Given the description of an element on the screen output the (x, y) to click on. 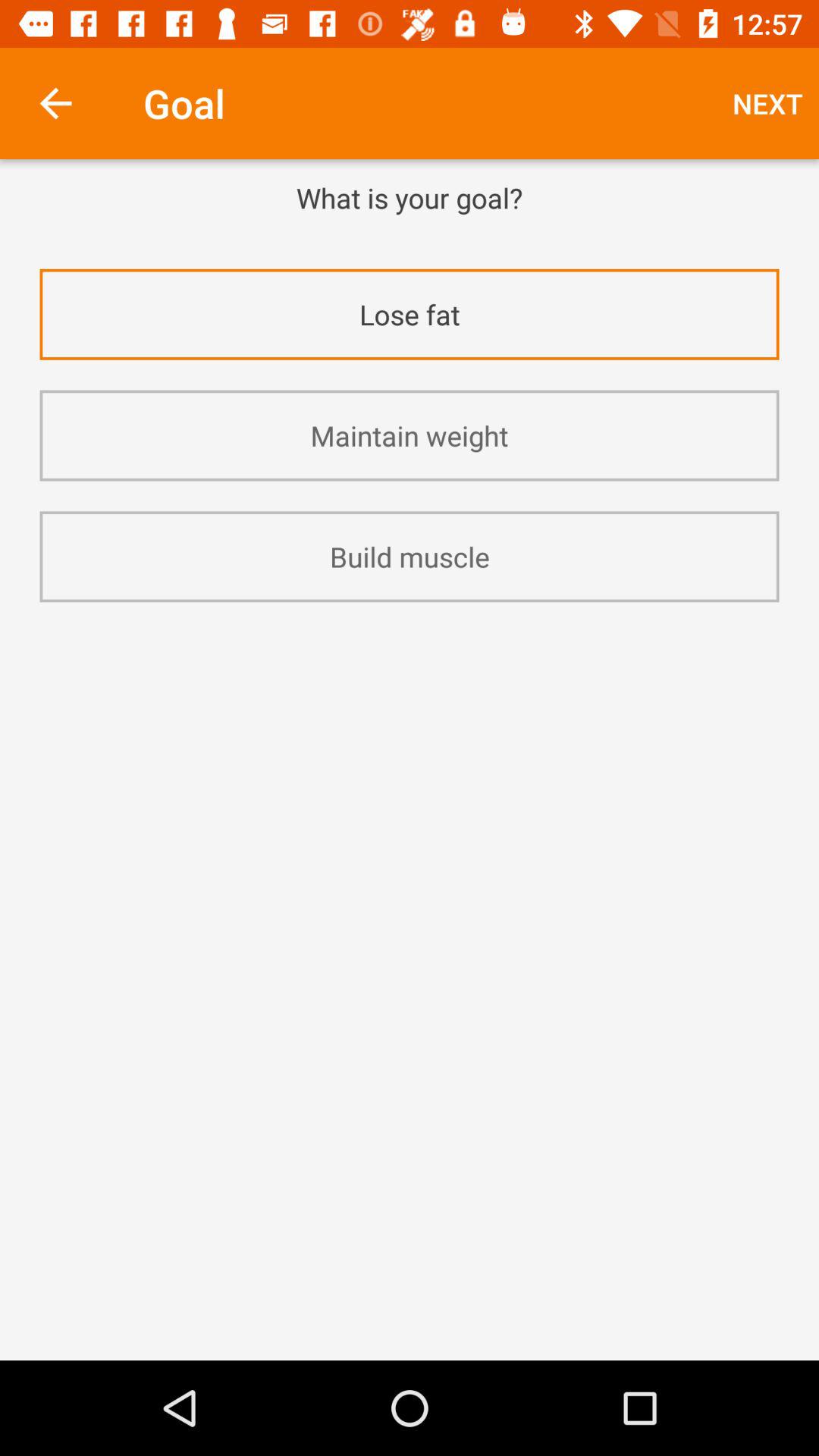
swipe until the maintain weight icon (409, 435)
